Given the description of an element on the screen output the (x, y) to click on. 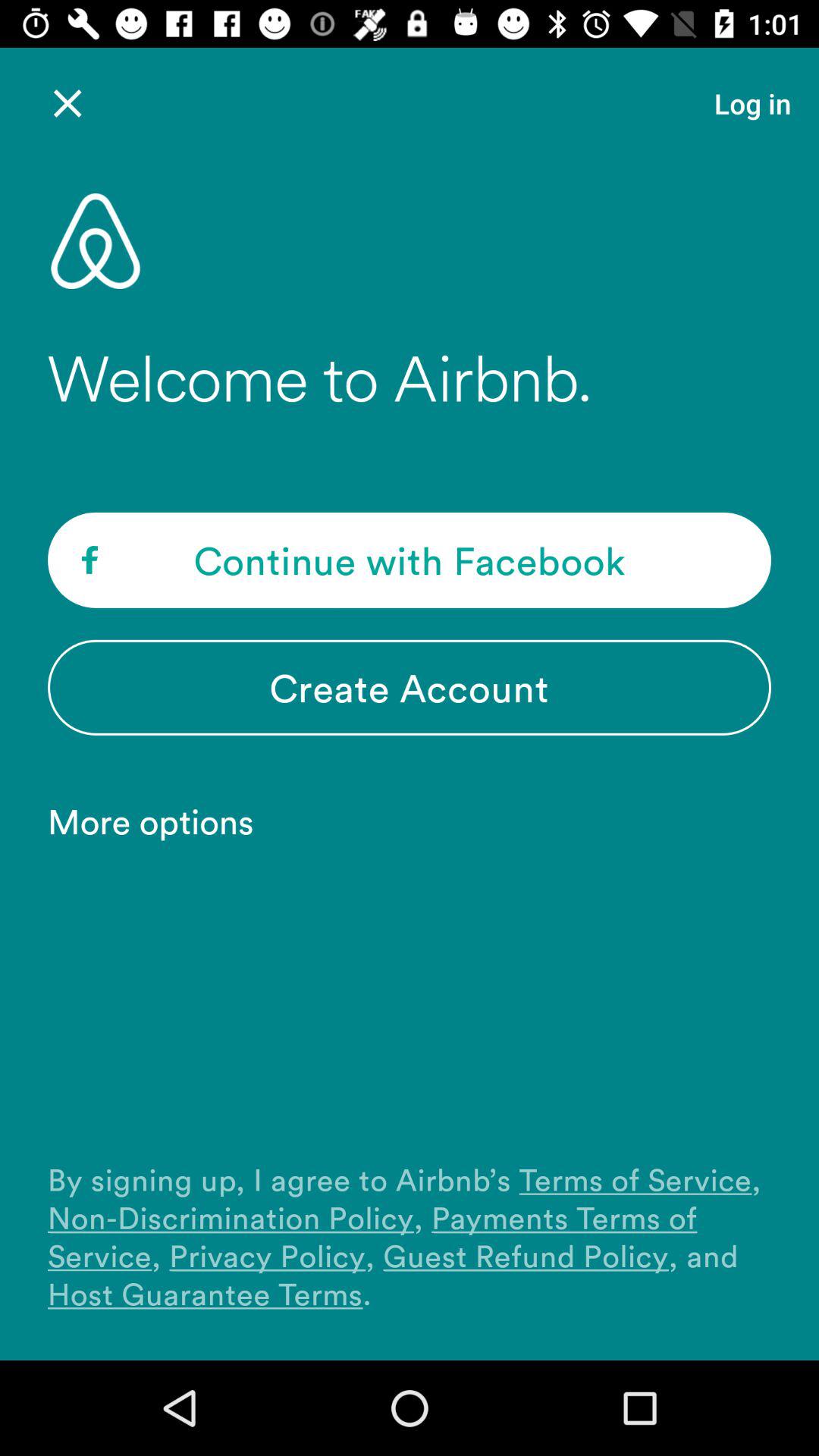
open create account (409, 687)
